Given the description of an element on the screen output the (x, y) to click on. 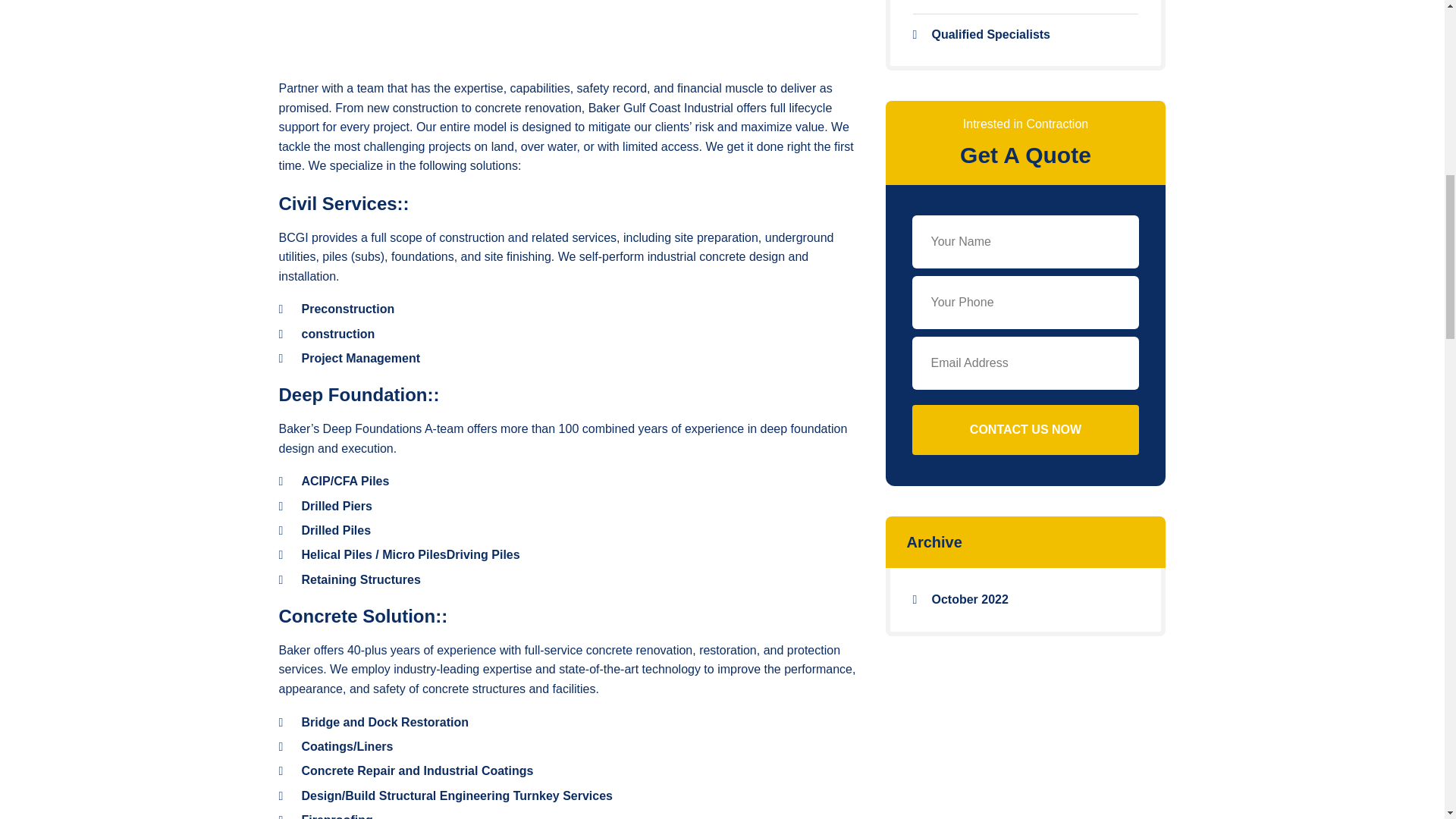
CONTACT US NOW (1024, 429)
Qualified Specialists (1025, 34)
